Given the description of an element on the screen output the (x, y) to click on. 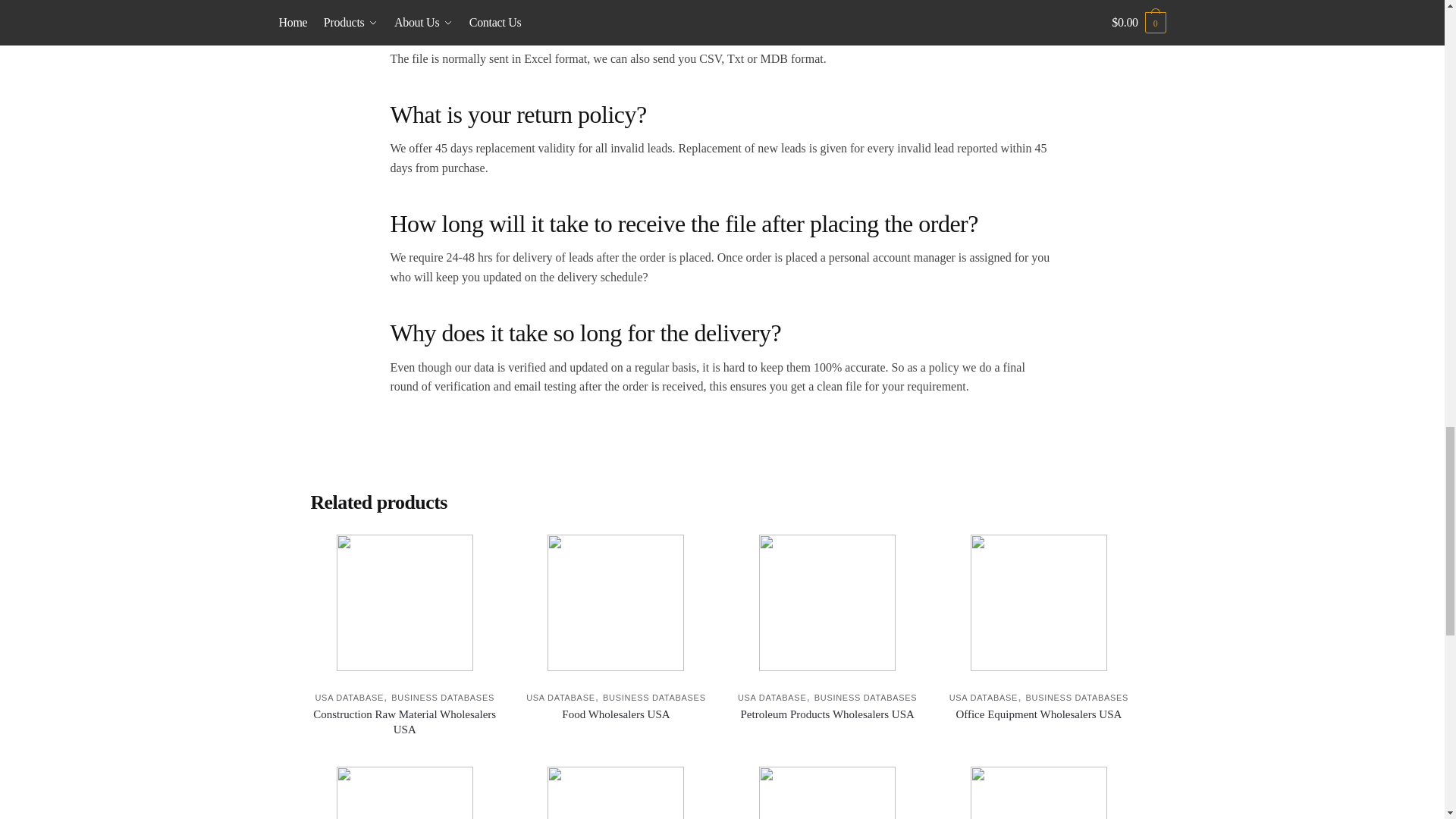
BUSINESS DATABASES (443, 696)
USA DATABASE (349, 696)
USA DATABASE (560, 696)
Construction Raw Material Wholesalers USA (404, 721)
